Given the description of an element on the screen output the (x, y) to click on. 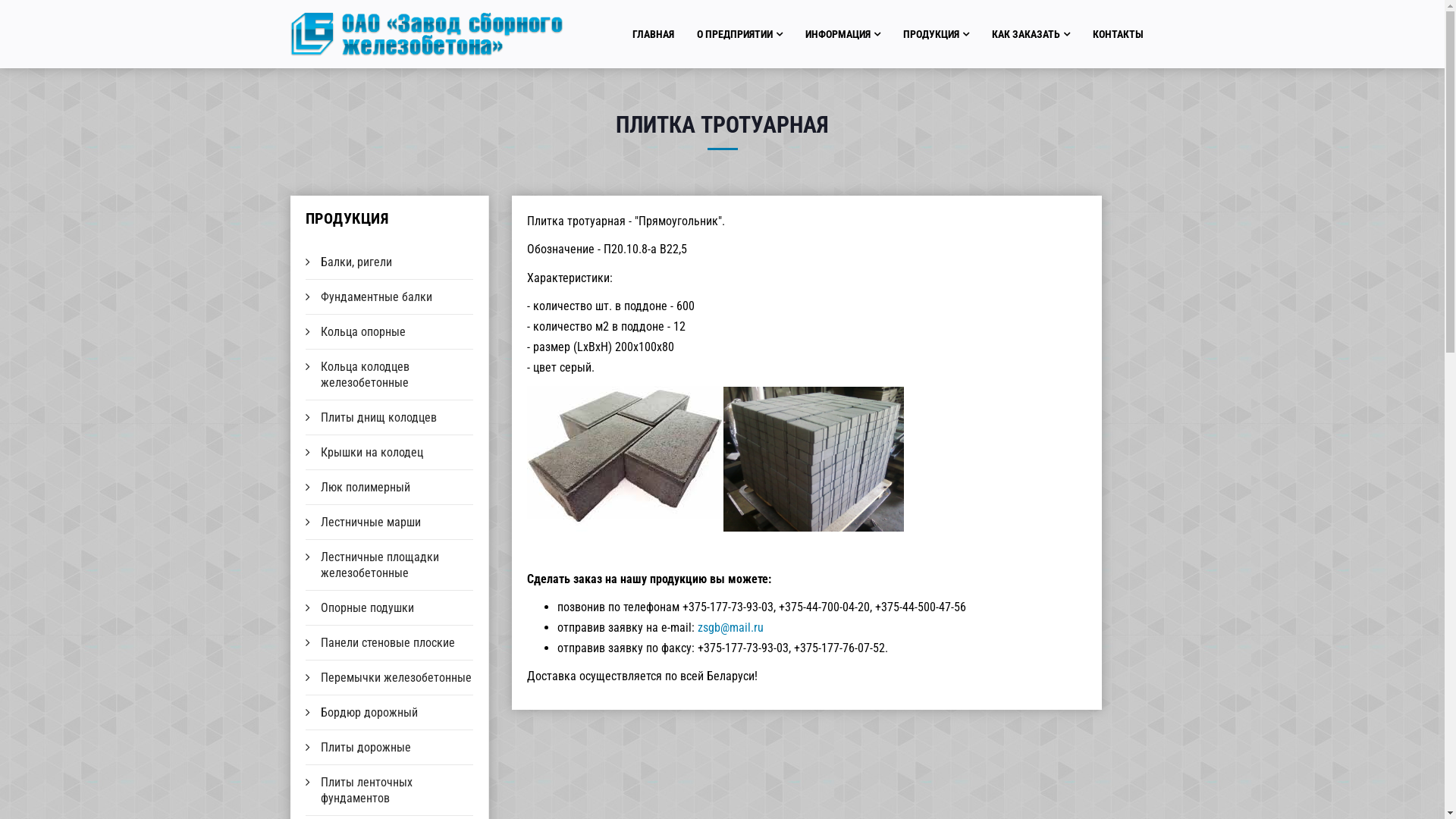
zsgb@mail.ru Element type: text (730, 627)
